Given the description of an element on the screen output the (x, y) to click on. 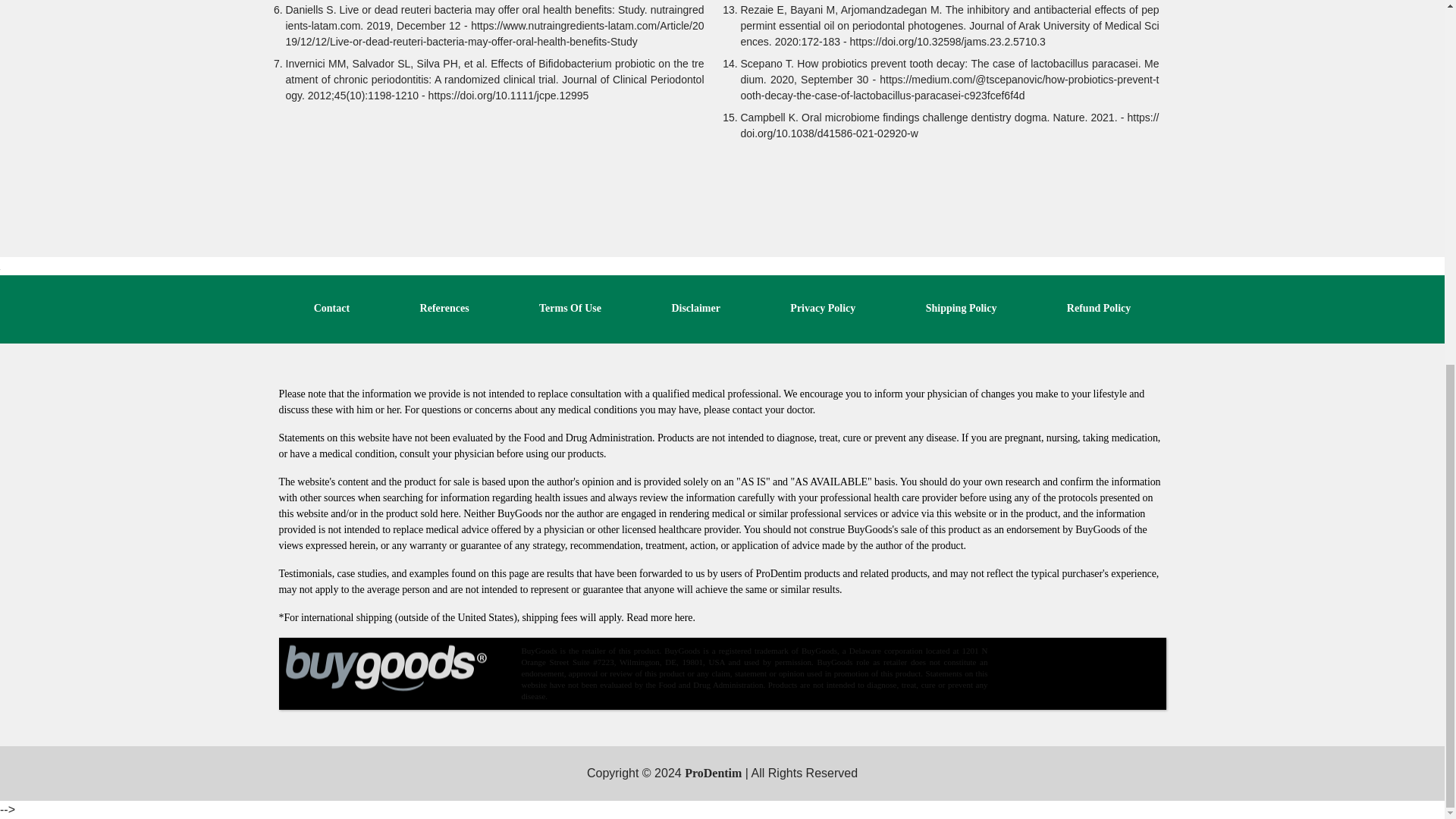
Contact (331, 307)
Refund Policy (1099, 307)
References (444, 307)
Privacy Policy (823, 307)
Shipping Policy (961, 307)
Disclaimer (695, 307)
Read more here (659, 617)
Terms Of Use (569, 307)
